Given the description of an element on the screen output the (x, y) to click on. 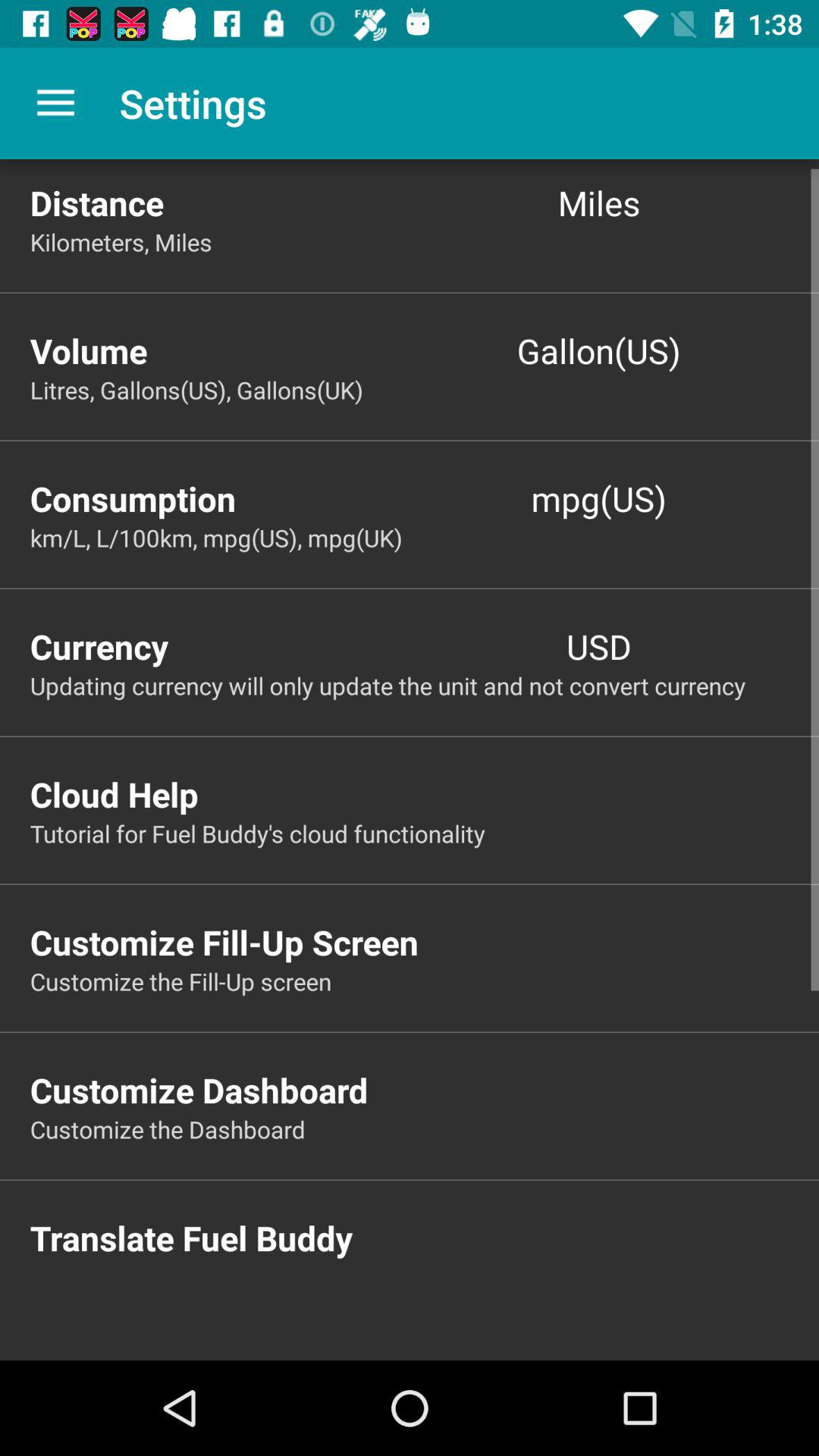
press updating currency will (424, 685)
